Given the description of an element on the screen output the (x, y) to click on. 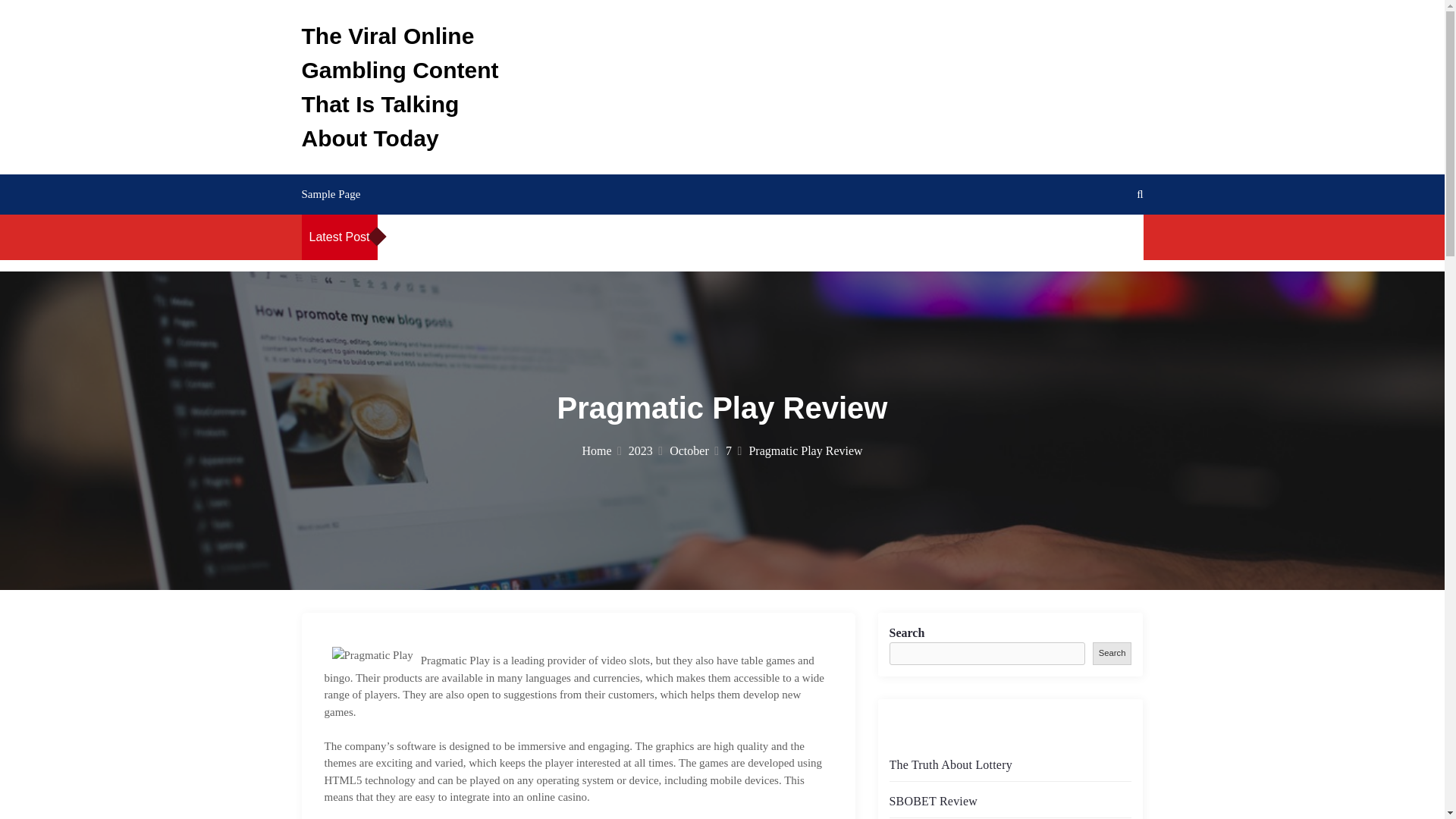
The Truth About Lottery (949, 764)
The Truth About Lottery (733, 237)
Sample Page (331, 193)
7 (733, 450)
Search (1112, 653)
2023 (645, 450)
SBOBET Review (607, 237)
SBOBET Review (847, 237)
SBOBET Review (932, 800)
Home (600, 450)
October (694, 450)
The Truth About Lottery (493, 237)
